Given the description of an element on the screen output the (x, y) to click on. 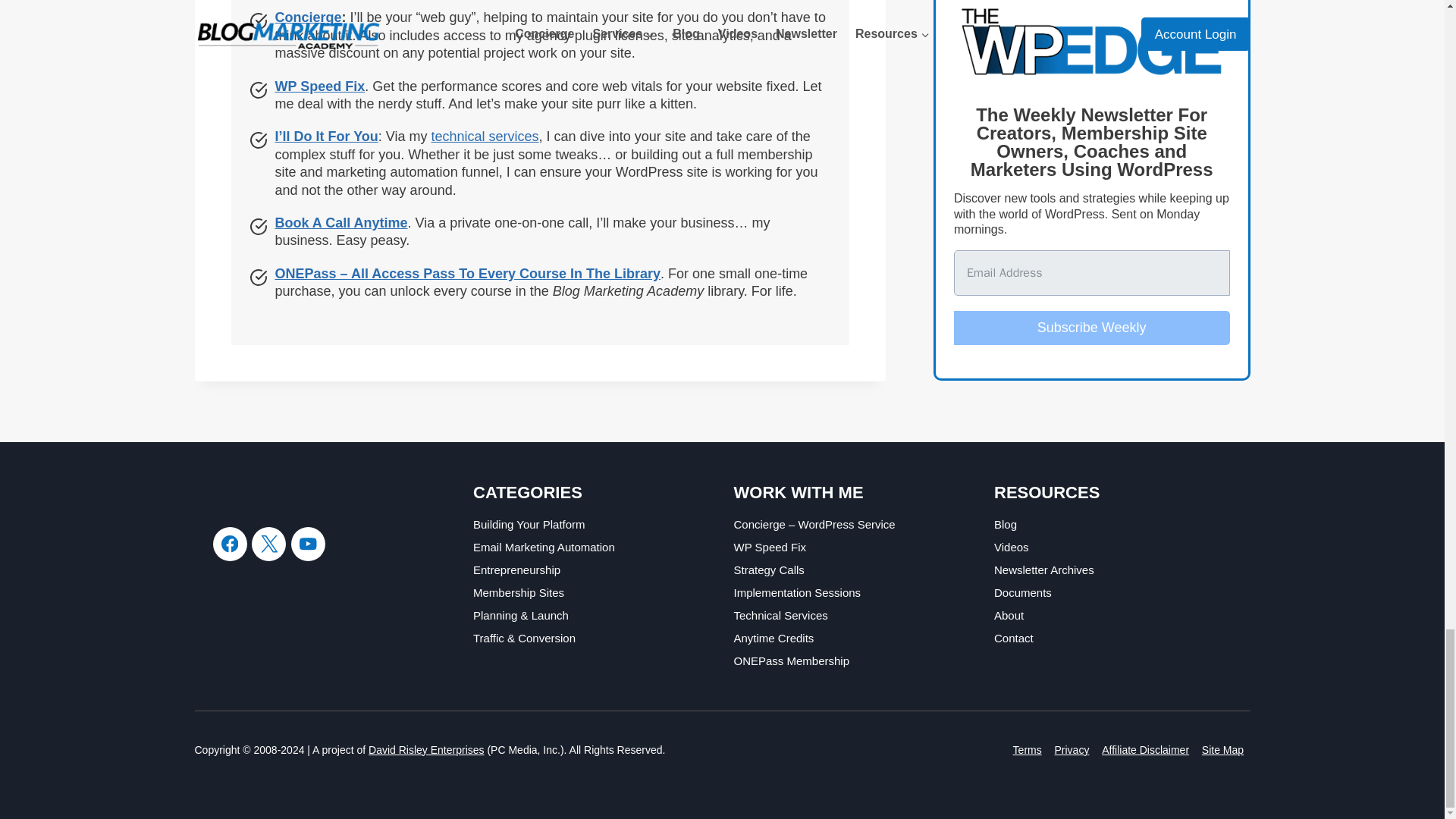
Book A Call Anytime (341, 222)
WP Speed Fix (320, 86)
Concierge (307, 17)
technical services (484, 136)
Email Marketing Automation (592, 547)
Building Your Platform (592, 524)
